Given the description of an element on the screen output the (x, y) to click on. 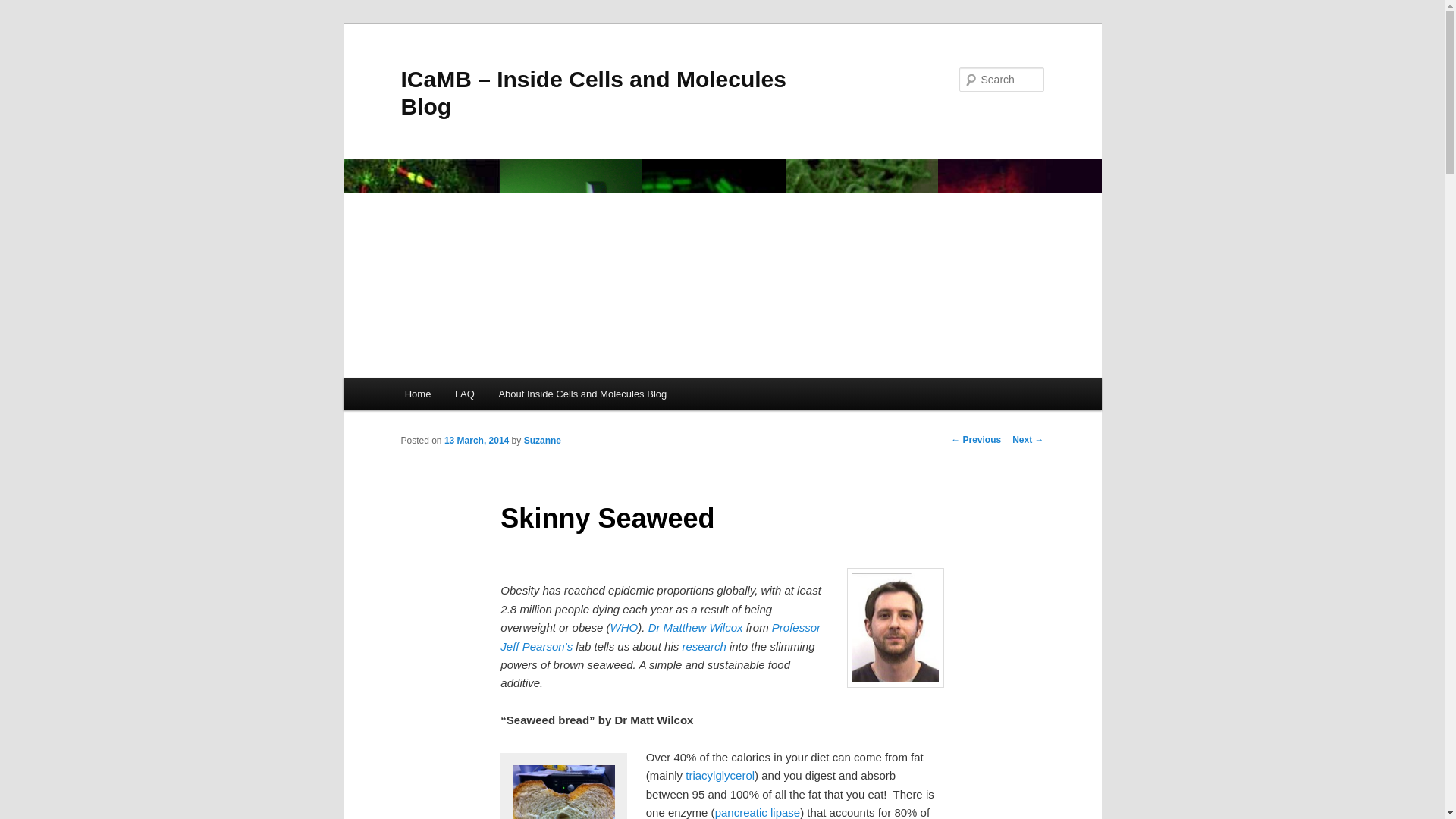
FAQ (464, 393)
View all posts by Suzanne (542, 439)
About Inside Cells and Molecules Blog (582, 393)
pancreatic lipase (757, 812)
Home (417, 393)
triacylglycerol (719, 775)
Suzanne (542, 439)
Dr Matthew Wilcox (694, 626)
Search (24, 8)
13 March, 2014 (476, 439)
research (702, 645)
10:57 am (476, 439)
WHO (624, 626)
